Given the description of an element on the screen output the (x, y) to click on. 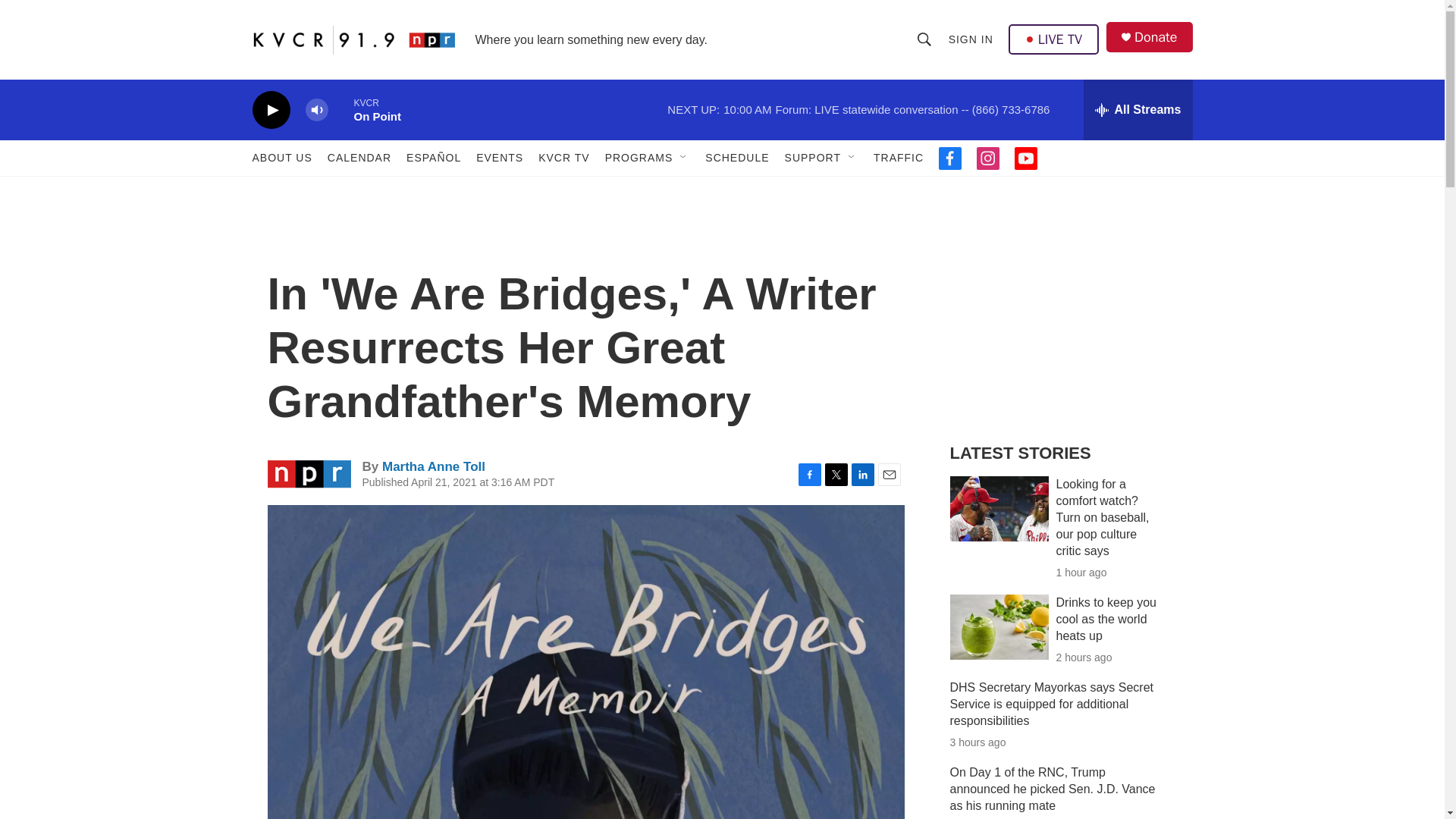
3rd party ad content (1062, 316)
